Given the description of an element on the screen output the (x, y) to click on. 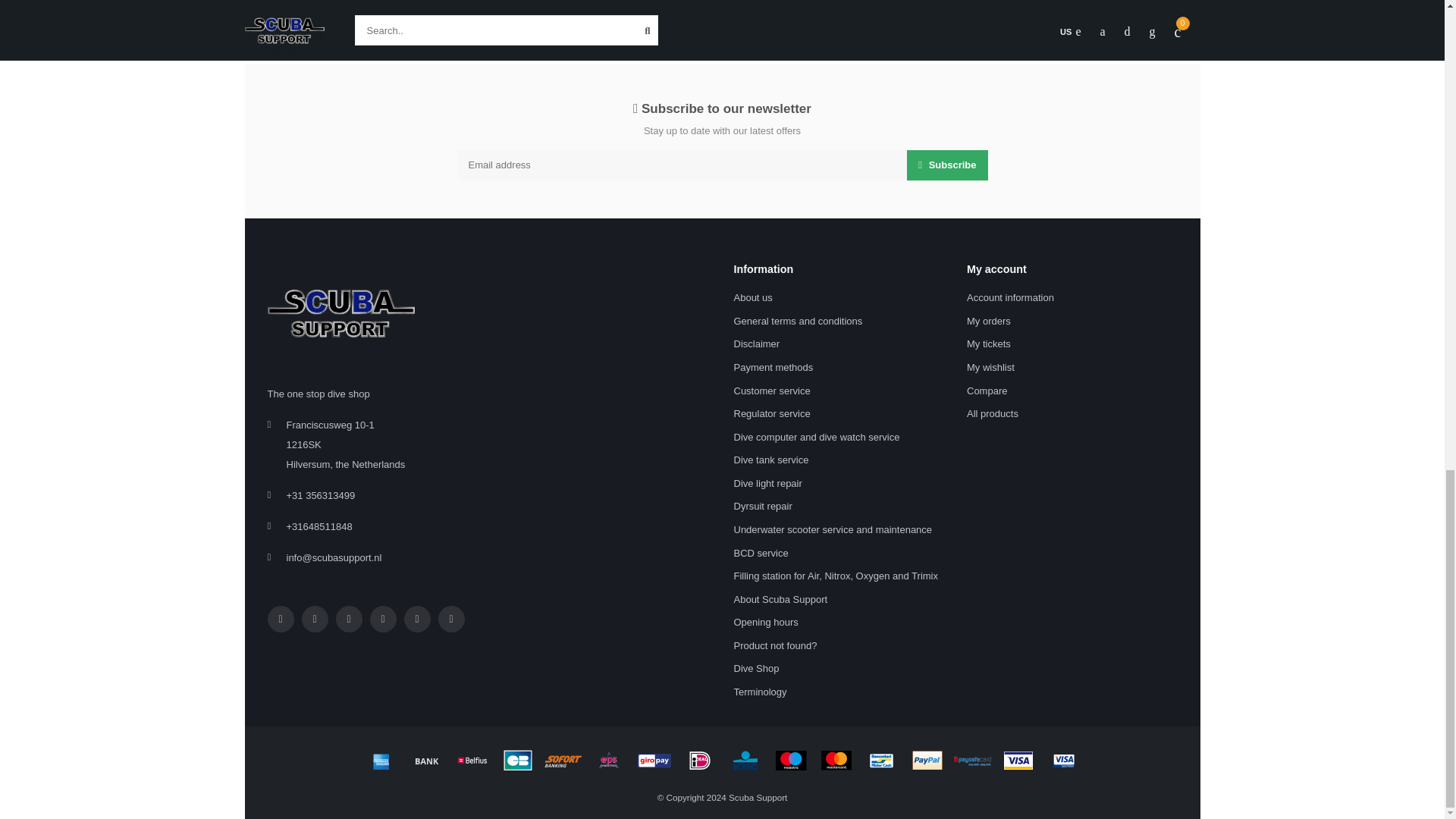
About us (753, 298)
General terms and conditions (798, 321)
